Given the description of an element on the screen output the (x, y) to click on. 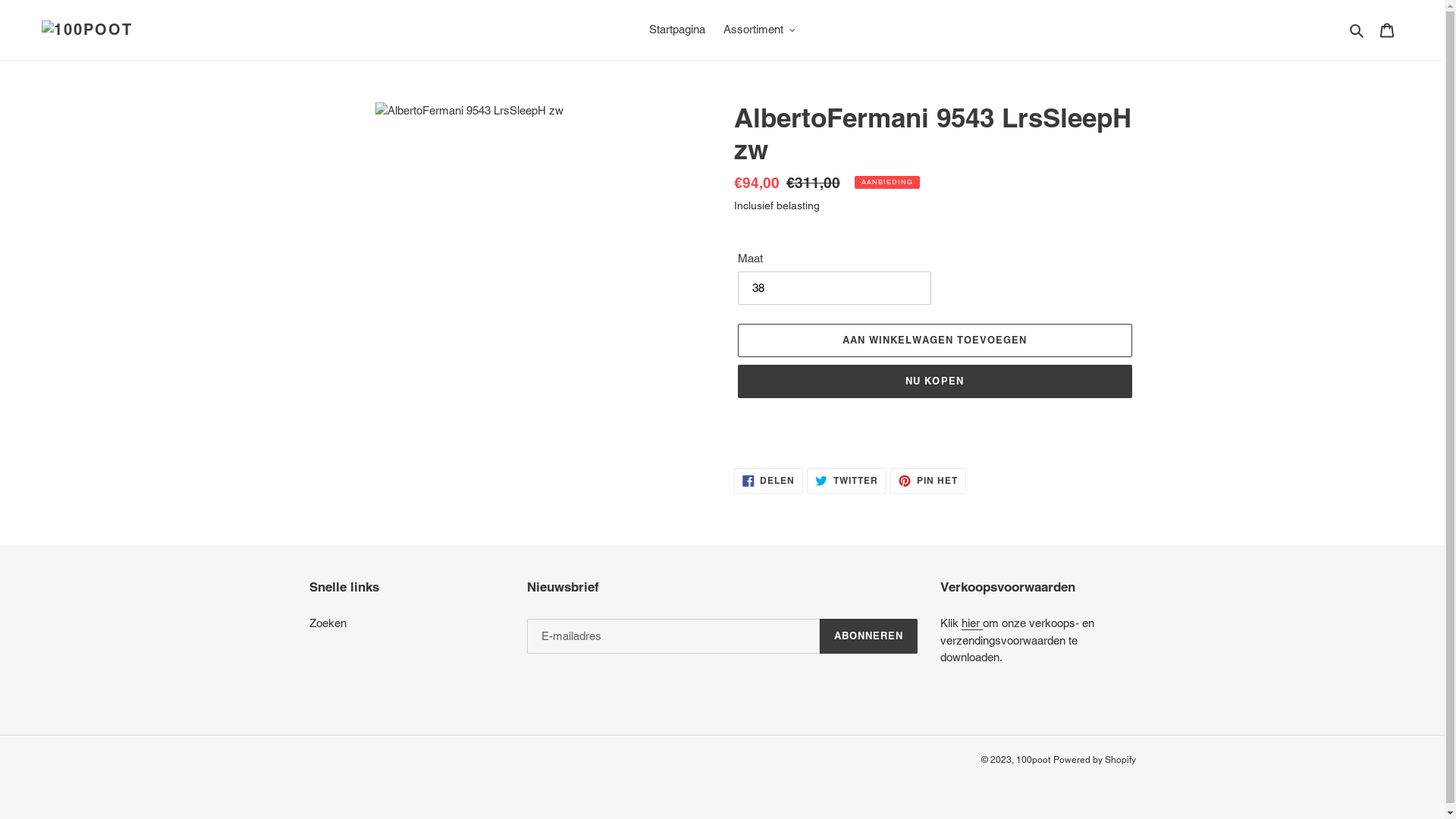
Zoeken Element type: text (1357, 29)
NU KOPEN Element type: text (934, 381)
AAN WINKELWAGEN TOEVOEGEN Element type: text (934, 340)
Assortiment Element type: text (759, 29)
Zoeken Element type: text (327, 622)
TWITTER
TWITTEREN OP TWITTER Element type: text (846, 480)
Winkelwagen Element type: text (1386, 29)
Startpagina Element type: text (676, 29)
hier Element type: text (971, 623)
DELEN
DELEN OP FACEBOOK Element type: text (768, 480)
PIN HET
PINNEN OP PINTEREST Element type: text (928, 480)
100poot Element type: text (1033, 758)
ABONNEREN Element type: text (868, 635)
